Given the description of an element on the screen output the (x, y) to click on. 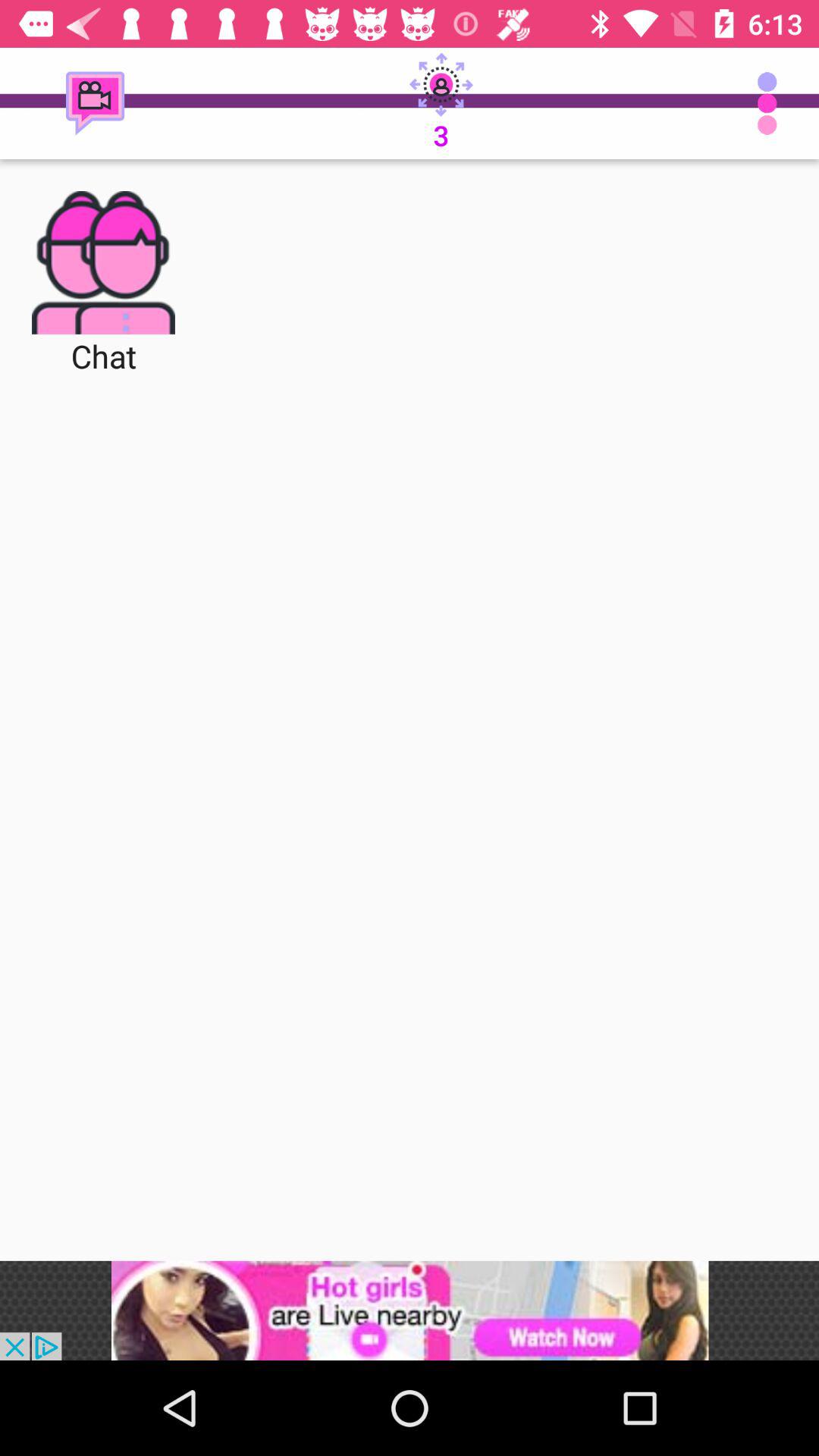
opens an advertisement (409, 1310)
